Given the description of an element on the screen output the (x, y) to click on. 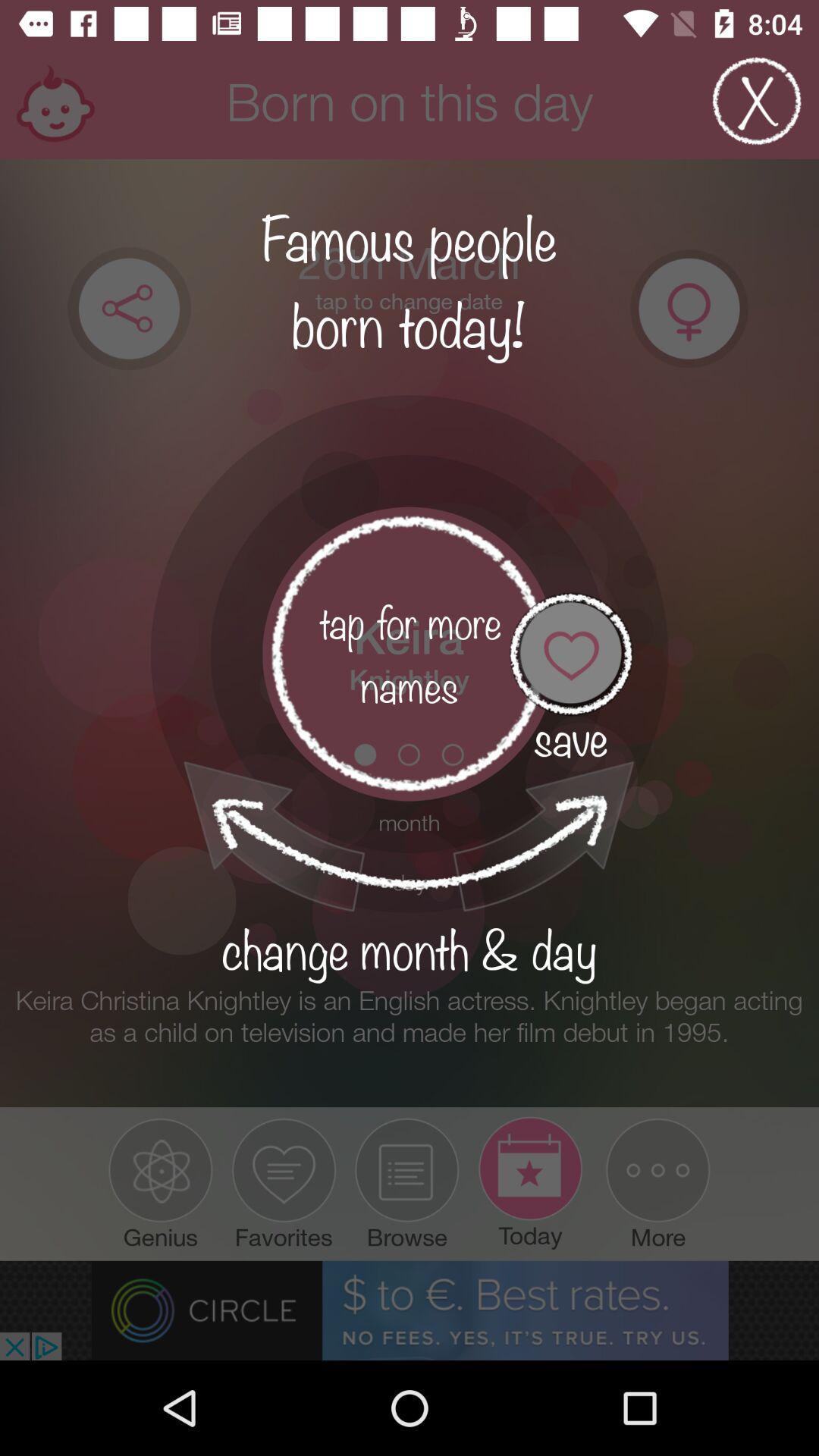
tap for more (409, 653)
